Given the description of an element on the screen output the (x, y) to click on. 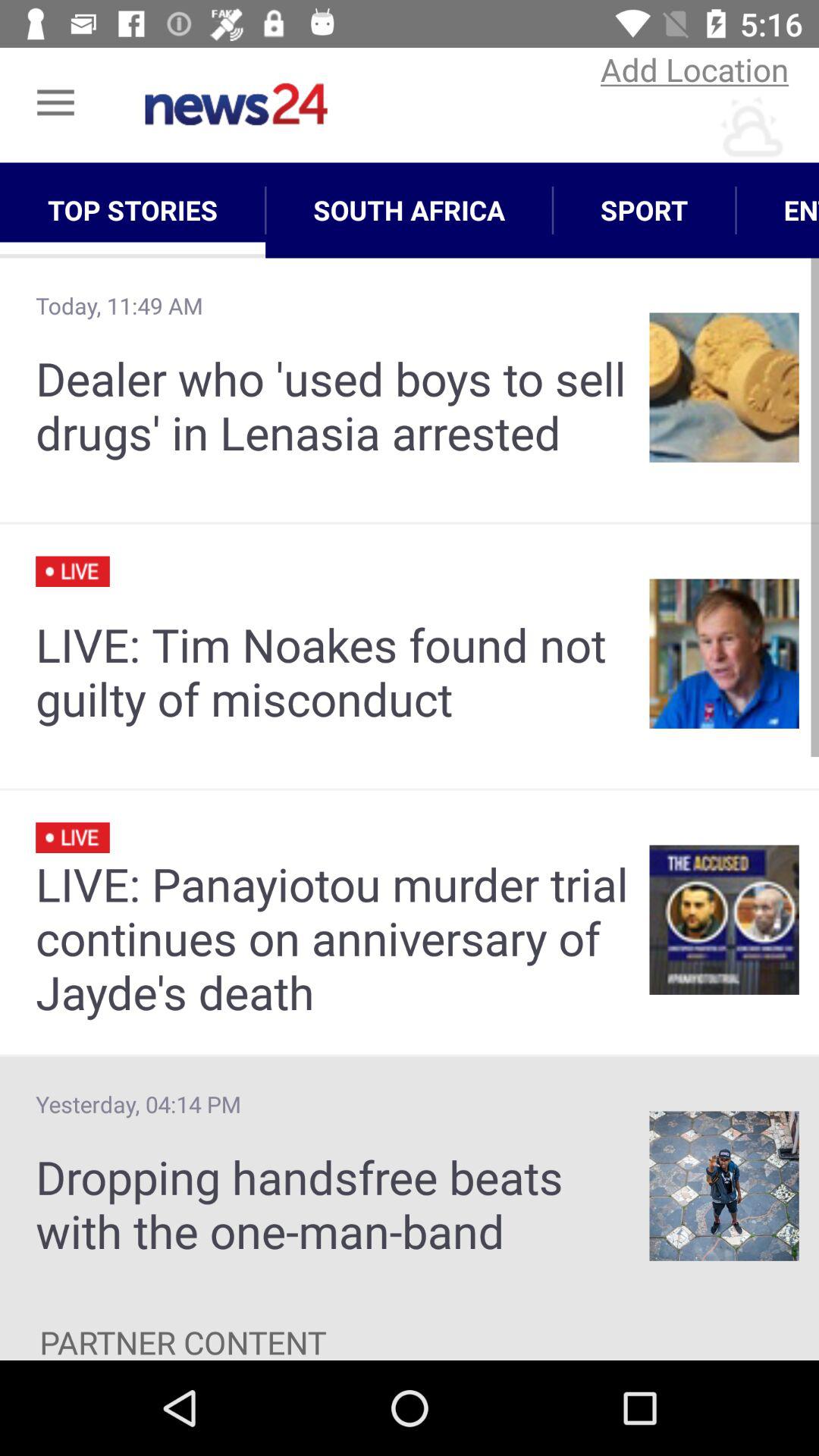
press icon next to entertainment (643, 210)
